Given the description of an element on the screen output the (x, y) to click on. 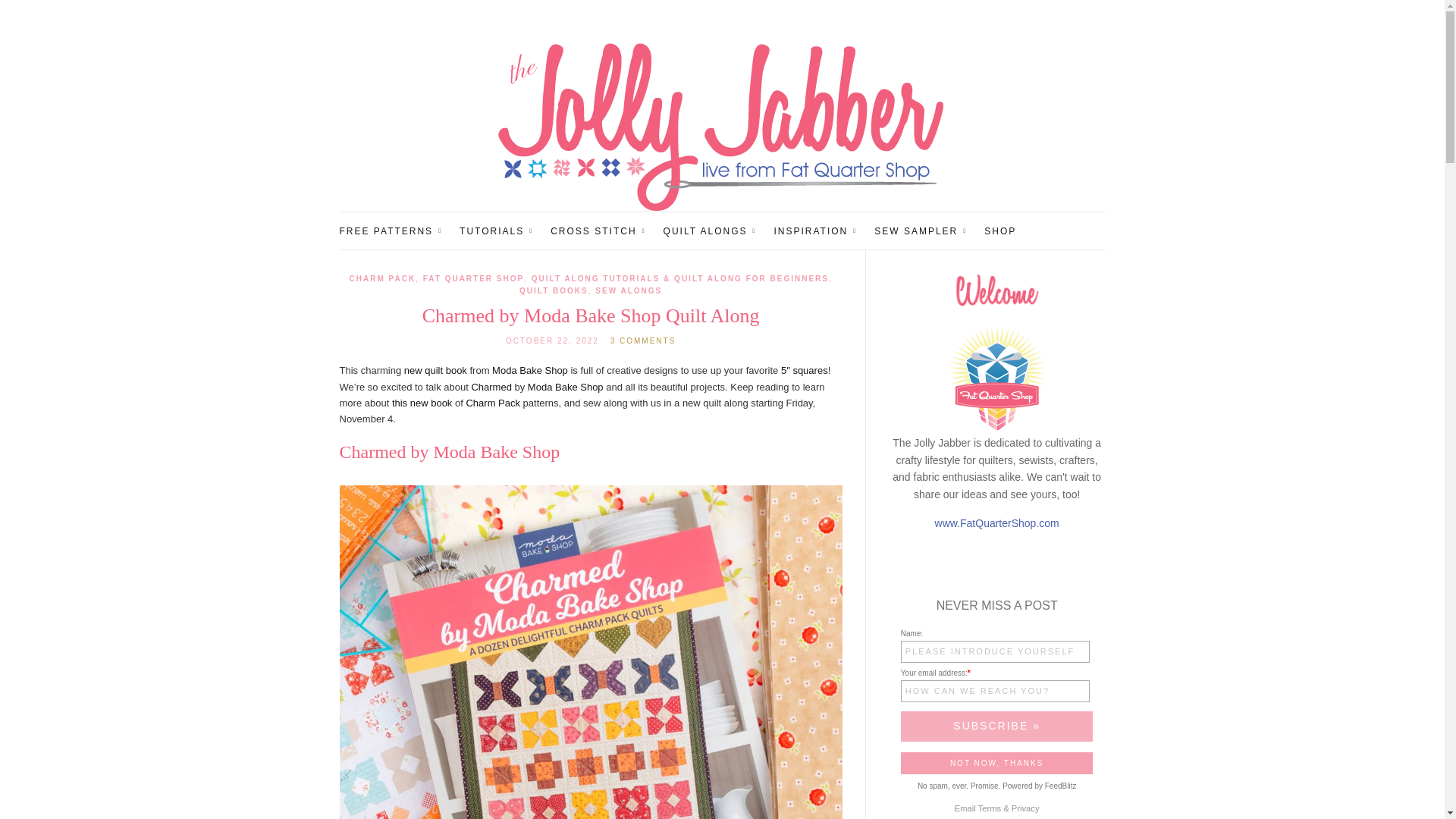
Not now, thanks (997, 762)
